Given the description of an element on the screen output the (x, y) to click on. 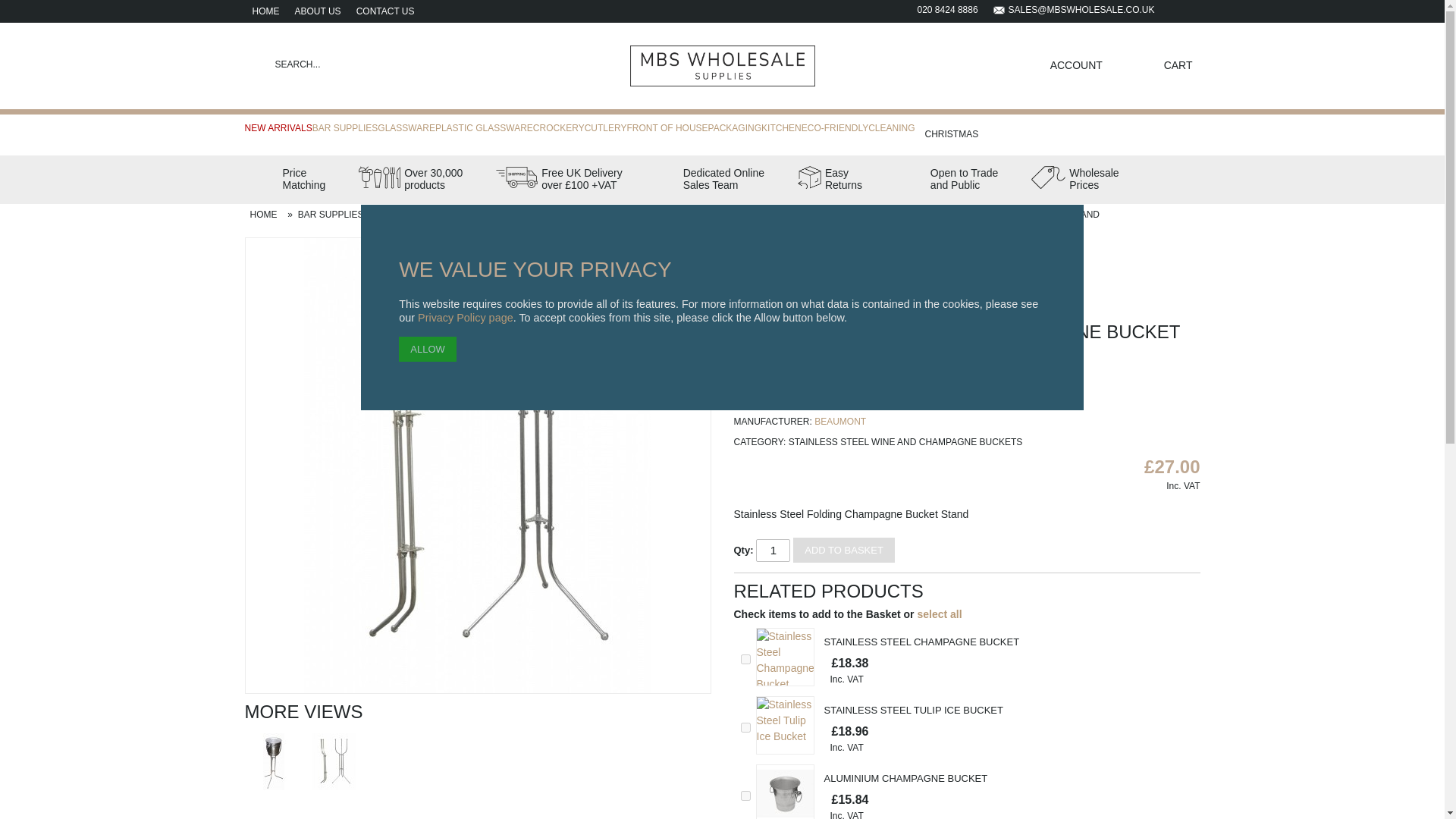
PLASTIC GLASSWARE (483, 124)
Like MBS Wholesale Supplies on Facebook (1177, 8)
Follow MBS Wholesale Supplies on Instagram (1192, 8)
KITCHEN (781, 124)
PACKAGING (734, 124)
BAR SUPPLIES (829, 184)
CONTACT US (345, 124)
Over 30,000 products (385, 11)
